Given the description of an element on the screen output the (x, y) to click on. 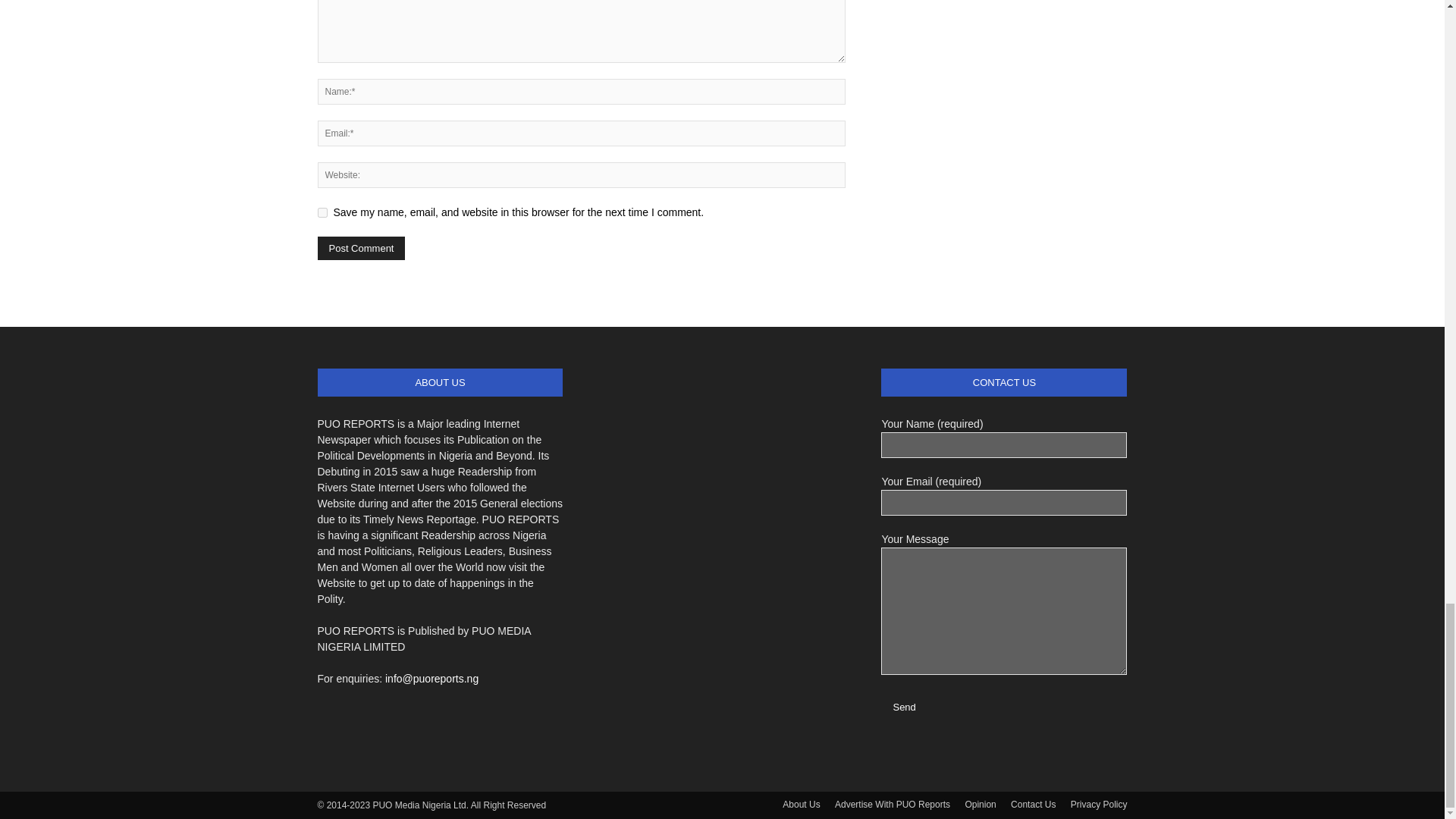
Send (903, 707)
yes (321, 212)
Post Comment (360, 248)
